Given the description of an element on the screen output the (x, y) to click on. 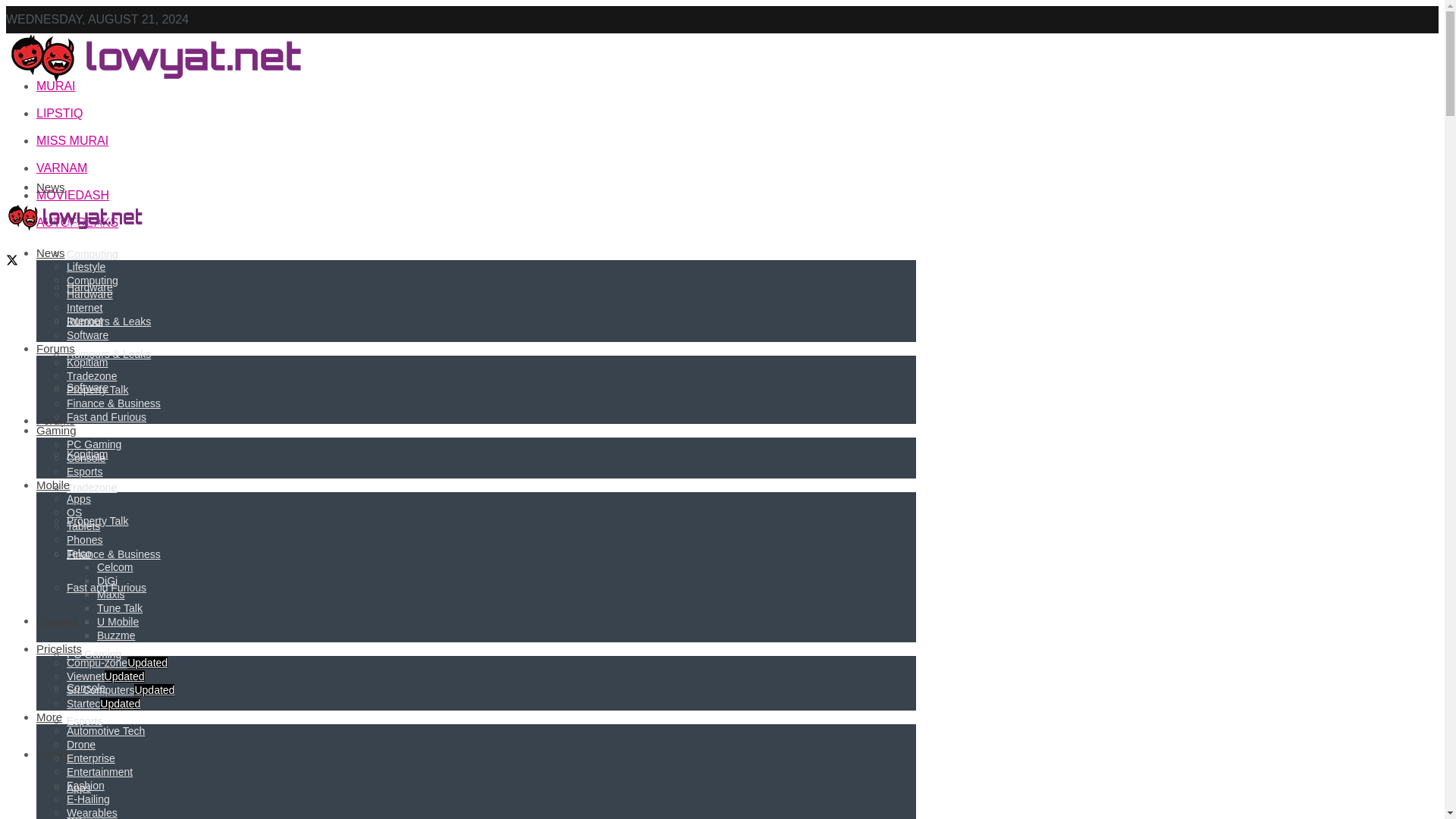
Internet (83, 320)
VARNAM (61, 167)
News (50, 186)
Hardware (89, 287)
Computing (91, 254)
Fast and Furious (106, 587)
Esports (83, 720)
HYPE (52, 58)
Software (86, 387)
Mobile (52, 753)
